Given the description of an element on the screen output the (x, y) to click on. 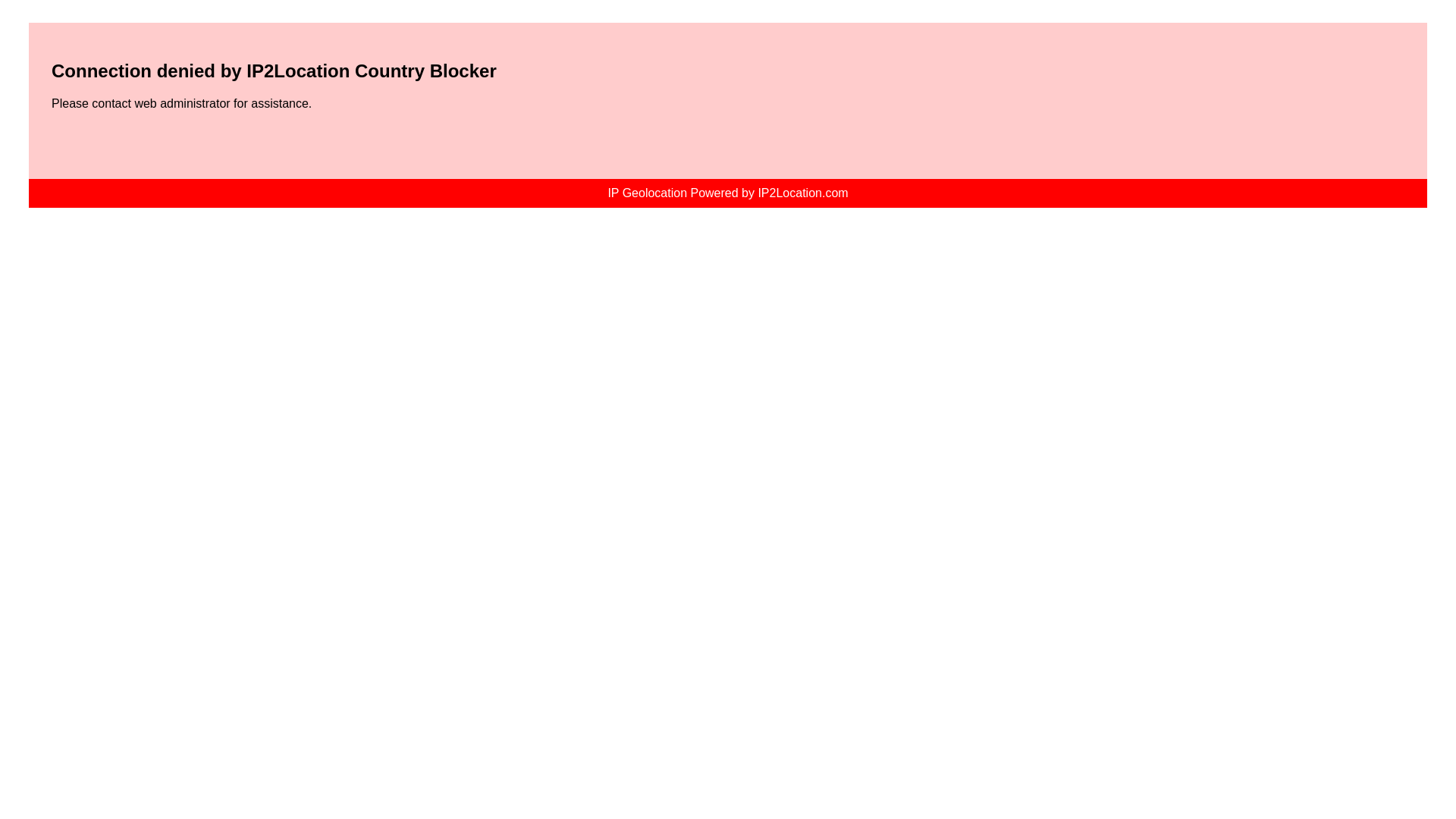
IP Geolocation Powered by IP2Location.com (727, 192)
